Given the description of an element on the screen output the (x, y) to click on. 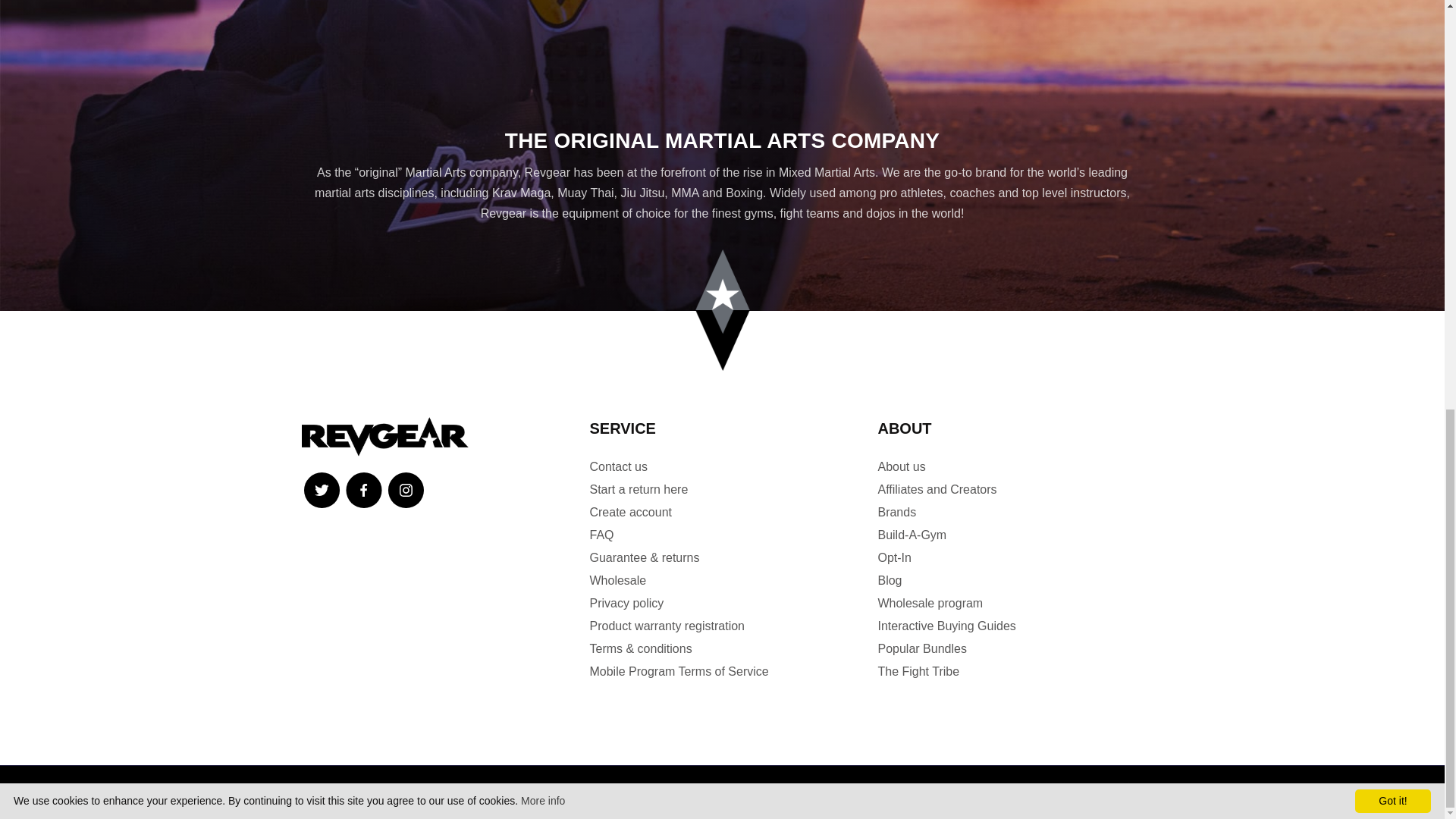
Revgear (384, 436)
